Given the description of an element on the screen output the (x, y) to click on. 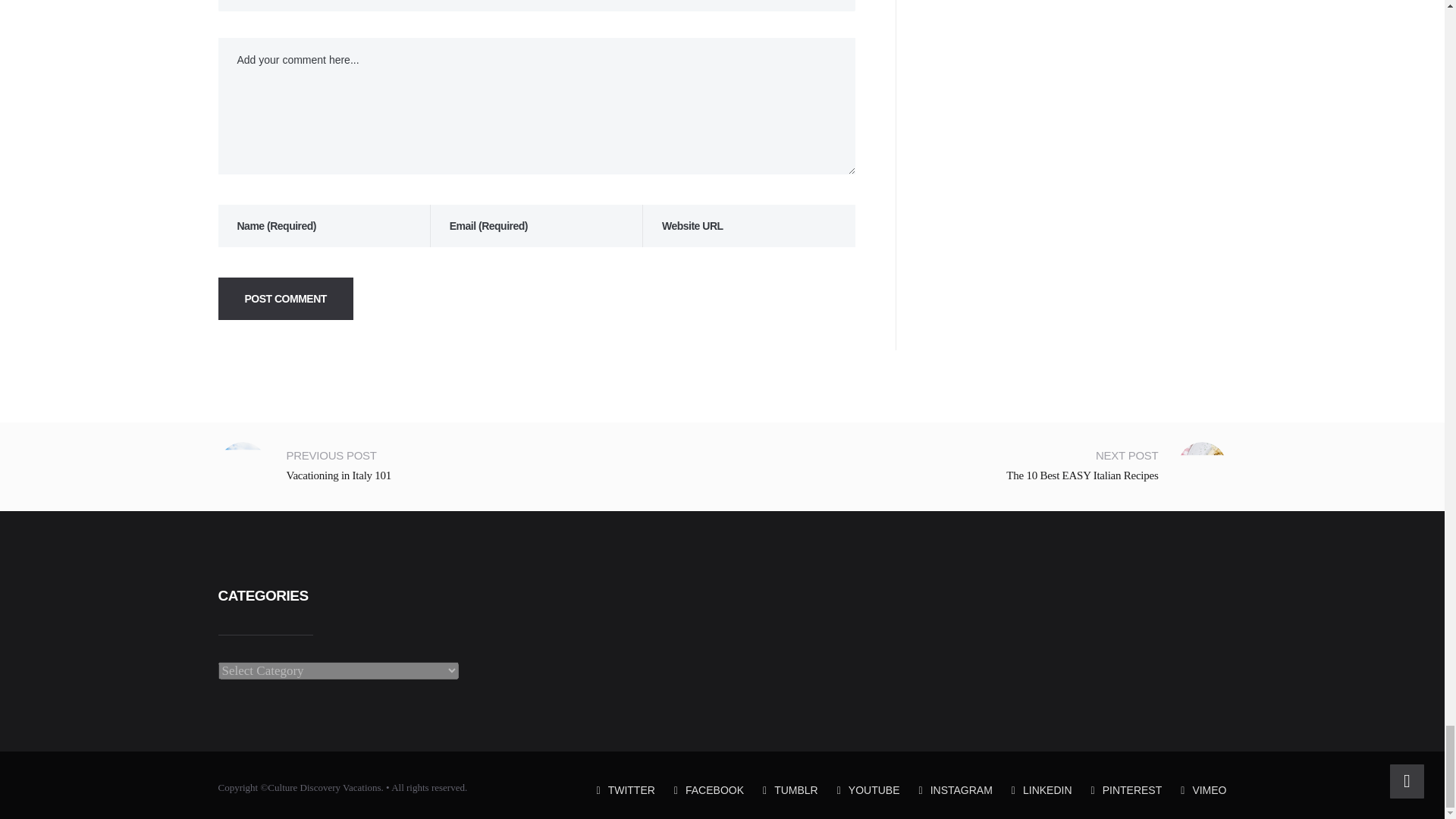
YouTube (868, 789)
LinkedIn (1041, 789)
Twitter (625, 789)
Tumblr (790, 789)
Facebook (709, 789)
Vimeo (1202, 789)
Pinterest (1125, 789)
Instagram (955, 789)
Post Comment (285, 298)
